Given the description of an element on the screen output the (x, y) to click on. 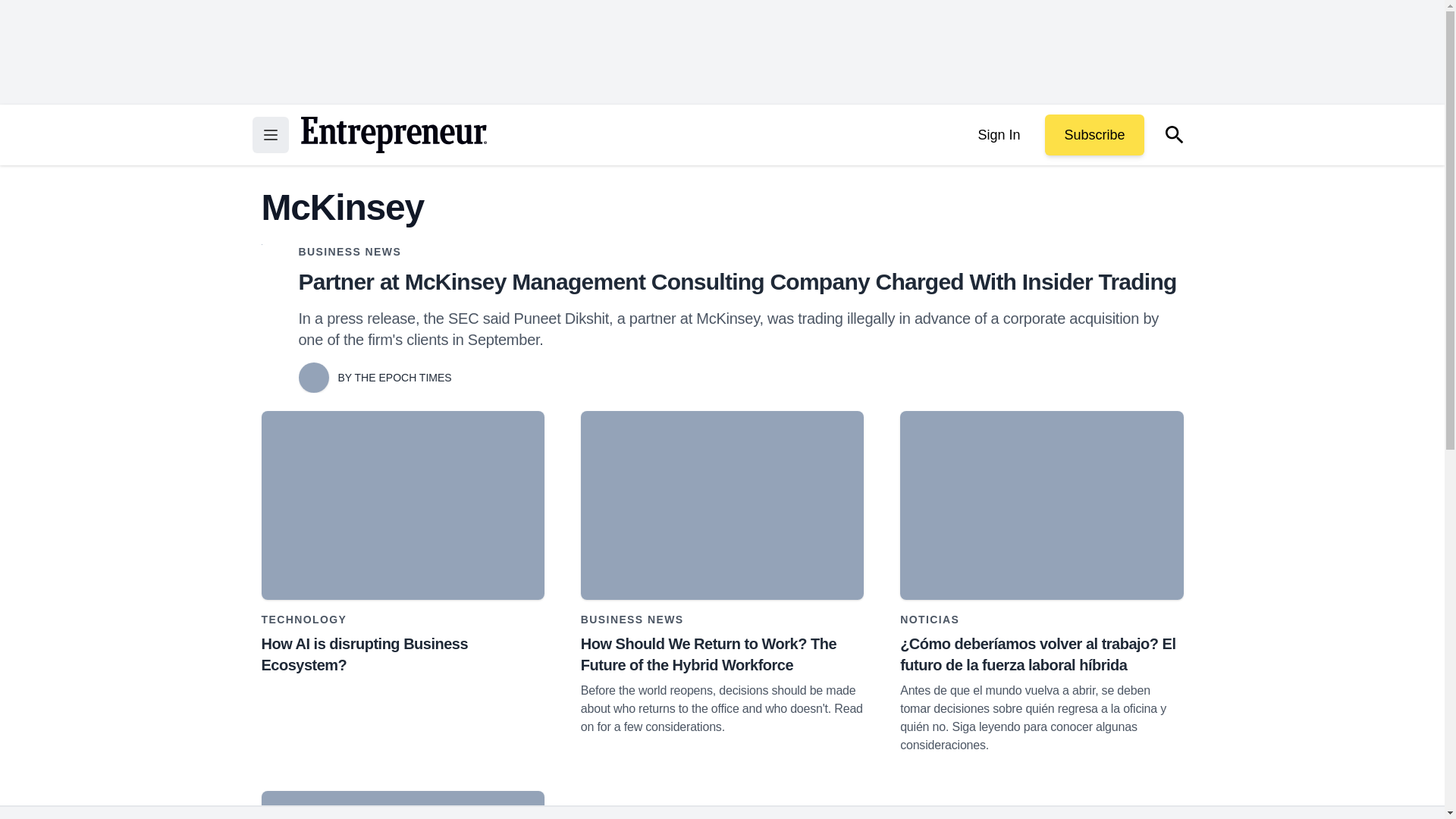
Sign In (998, 134)
Subscribe (1093, 134)
Return to the home page (392, 135)
